Given the description of an element on the screen output the (x, y) to click on. 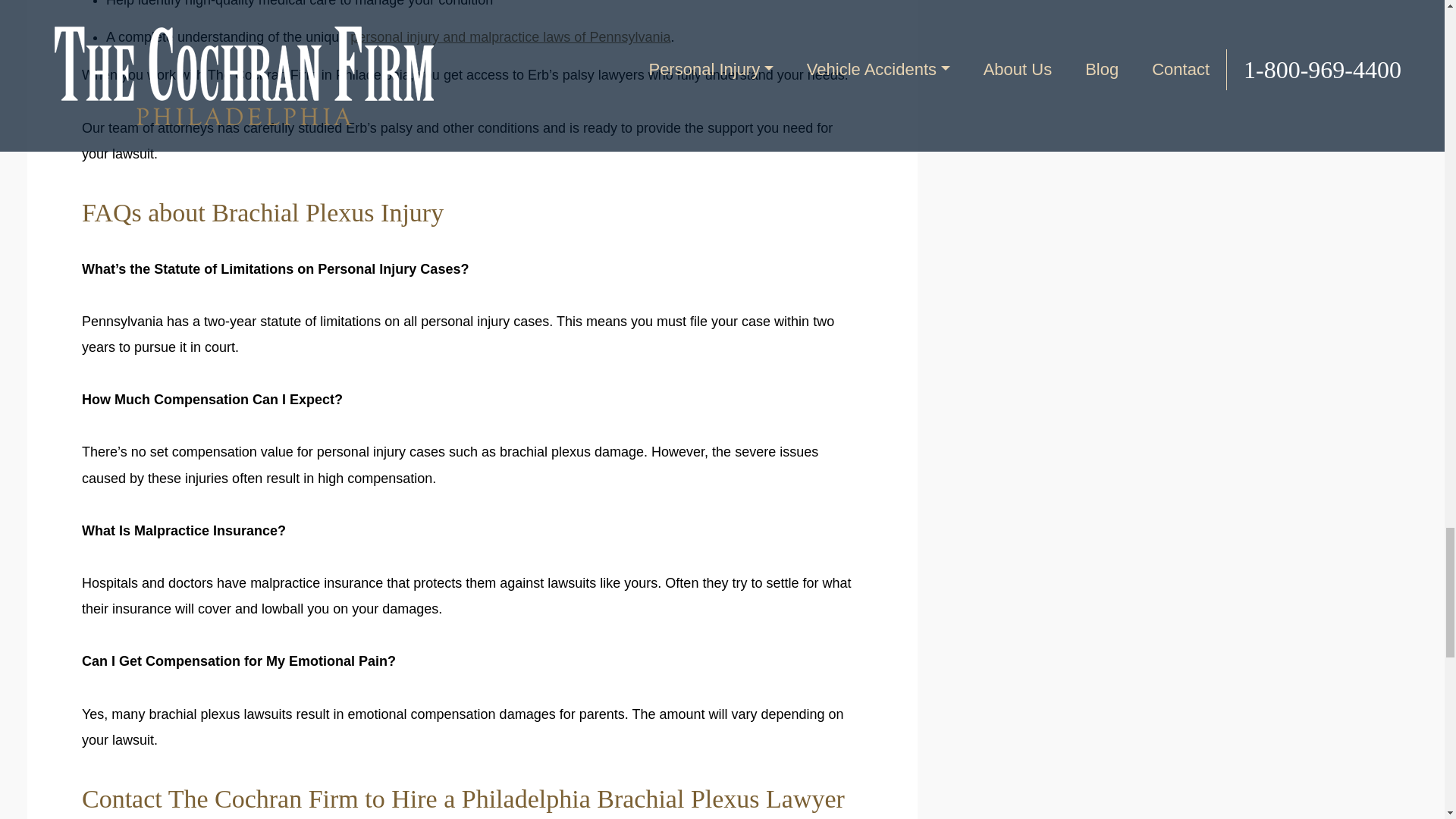
personal injury and malpractice laws of Pennsylvania (509, 37)
